Given the description of an element on the screen output the (x, y) to click on. 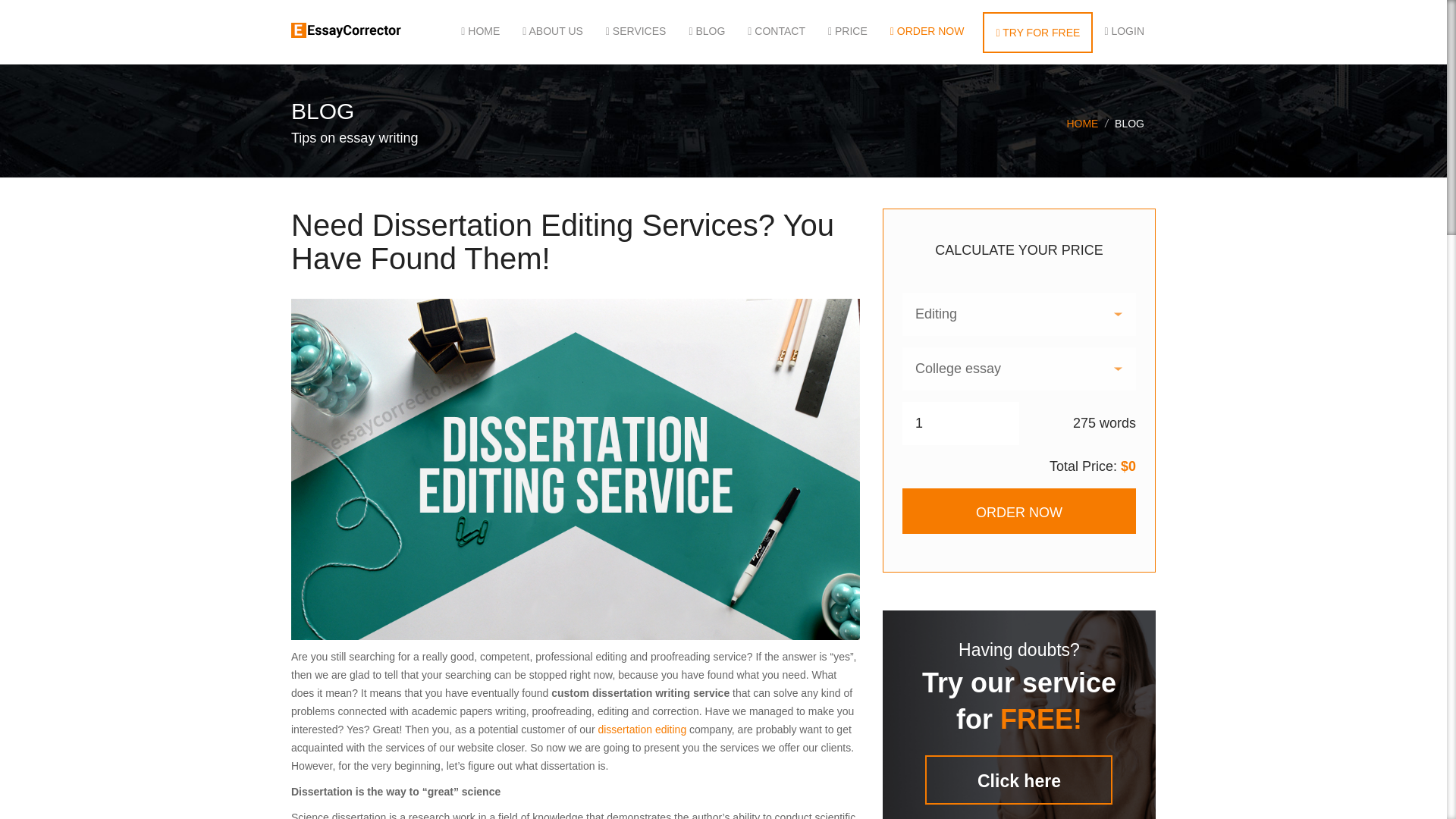
Click here (1018, 779)
PRICE (847, 30)
LOGIN (1118, 30)
1 (960, 423)
TRY FOR FREE (1037, 32)
ORDER NOW (927, 30)
HOME (1081, 123)
HOME (480, 30)
CONTACT (776, 30)
ABOUT US (552, 30)
SERVICES (636, 30)
ORDER NOW (1018, 510)
BLOG (706, 30)
dissertation editing (640, 729)
